Given the description of an element on the screen output the (x, y) to click on. 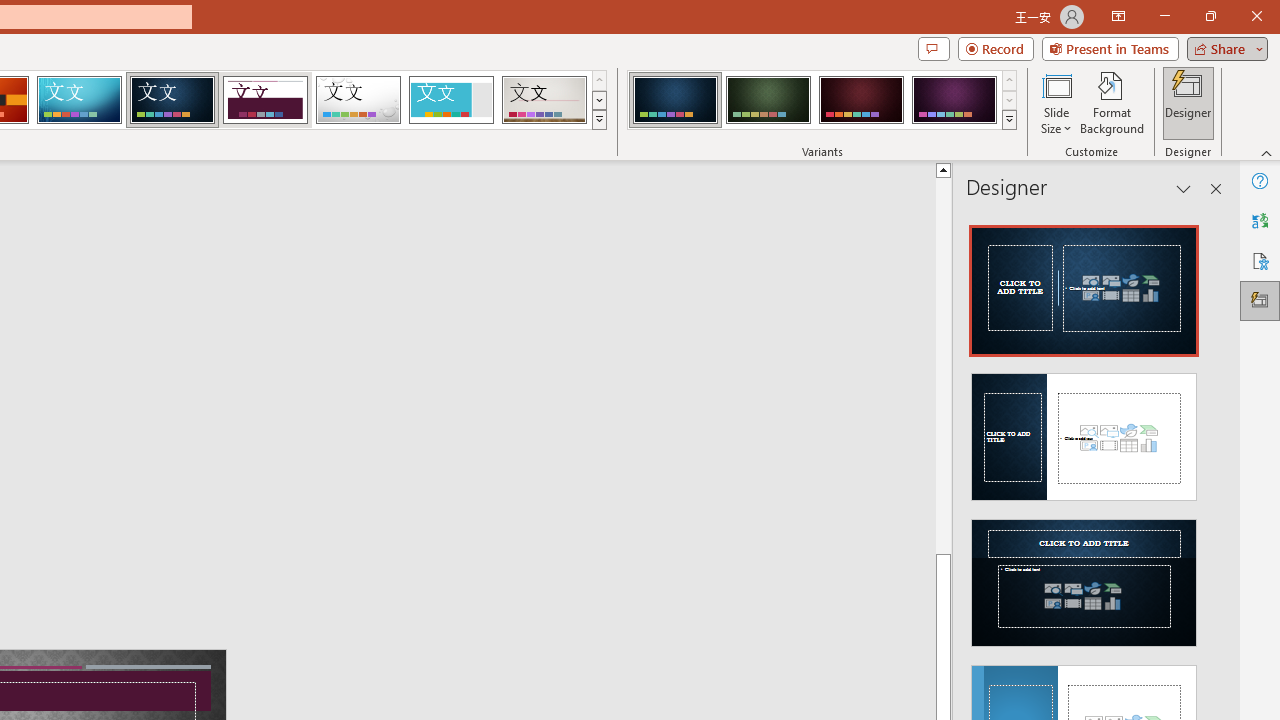
Line up (943, 169)
Minimize (1164, 16)
Damask Variant 3 (861, 100)
Class: NetUIImage (1009, 119)
Restore Down (1210, 16)
Designer (1188, 102)
Comments (933, 48)
Collapse the Ribbon (1267, 152)
Frame (450, 100)
Gallery (544, 100)
Row up (1009, 79)
Help (1260, 180)
Accessibility (1260, 260)
Circuit (79, 100)
